Given the description of an element on the screen output the (x, y) to click on. 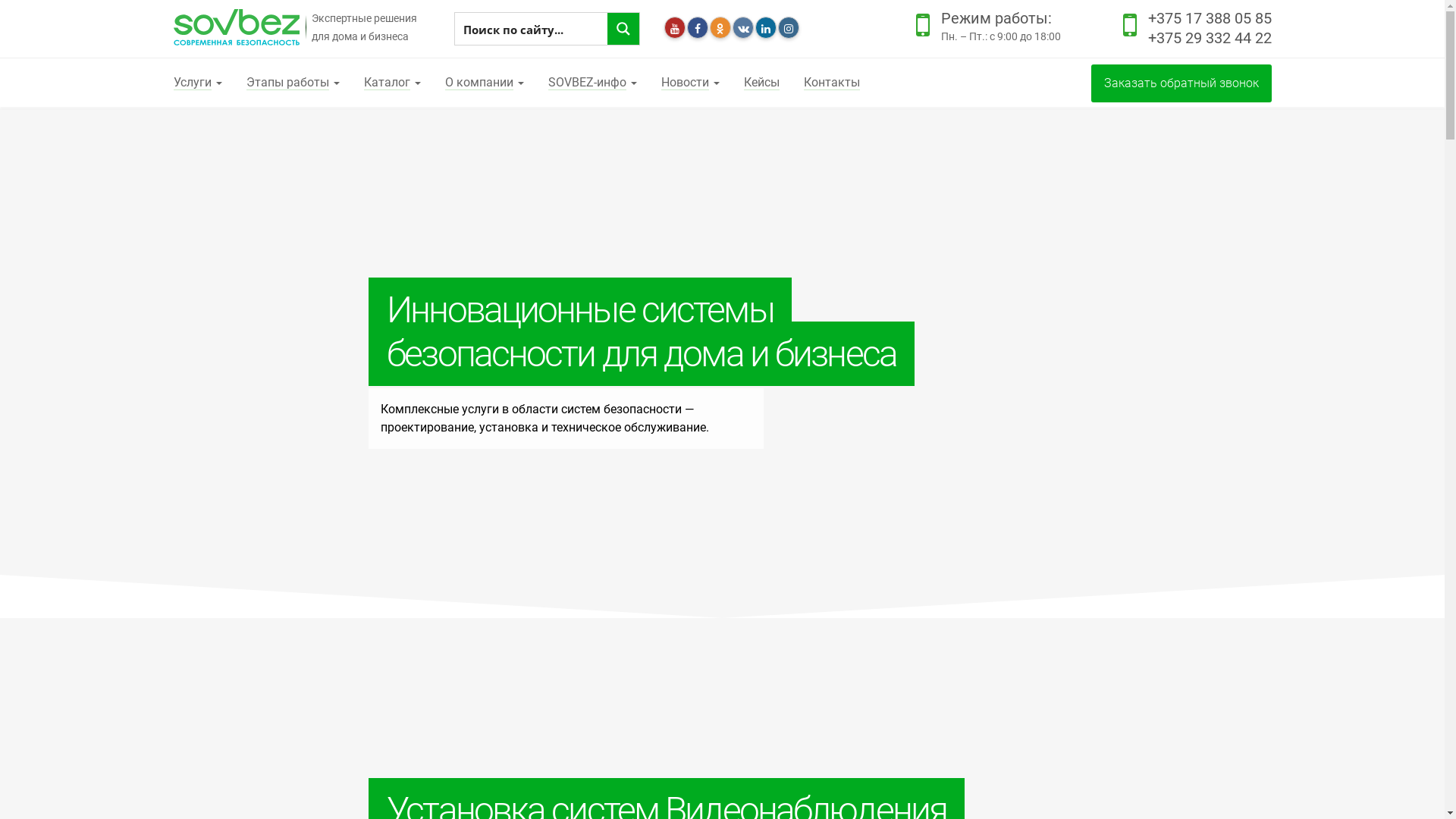
+375 29 332 44 22 Element type: text (1209, 37)
+375 17 388 05 85 Element type: text (1209, 18)
